Given the description of an element on the screen output the (x, y) to click on. 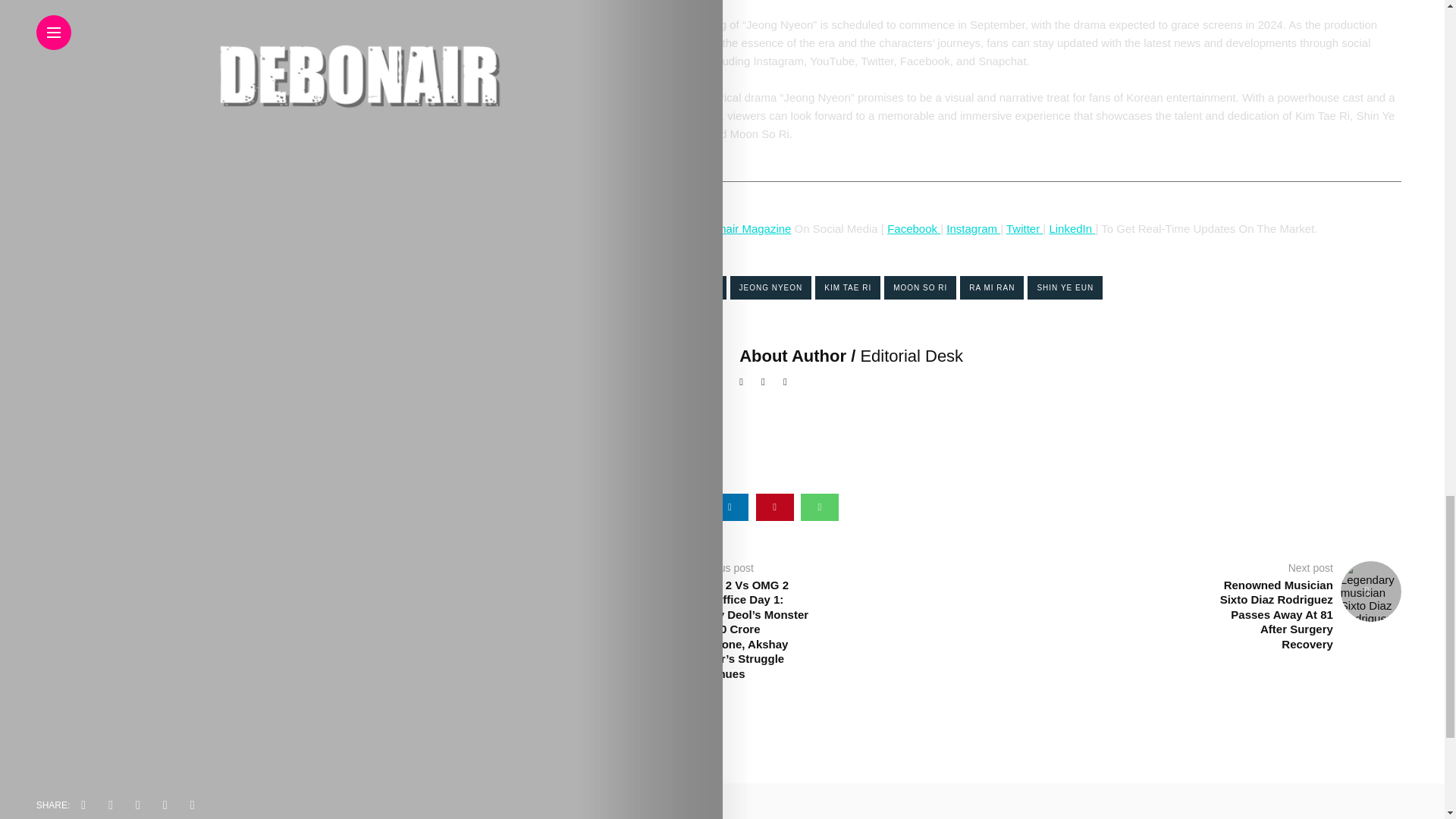
facebook (640, 506)
Debonair Magazine (741, 227)
Twitter (1022, 227)
HISTORICAL DRAMA (673, 287)
Facebook  (913, 227)
Instagram  (973, 227)
Posts by Editorial Desk (911, 354)
LinkedIn (1070, 227)
JEONG NYEON (769, 287)
